Given the description of an element on the screen output the (x, y) to click on. 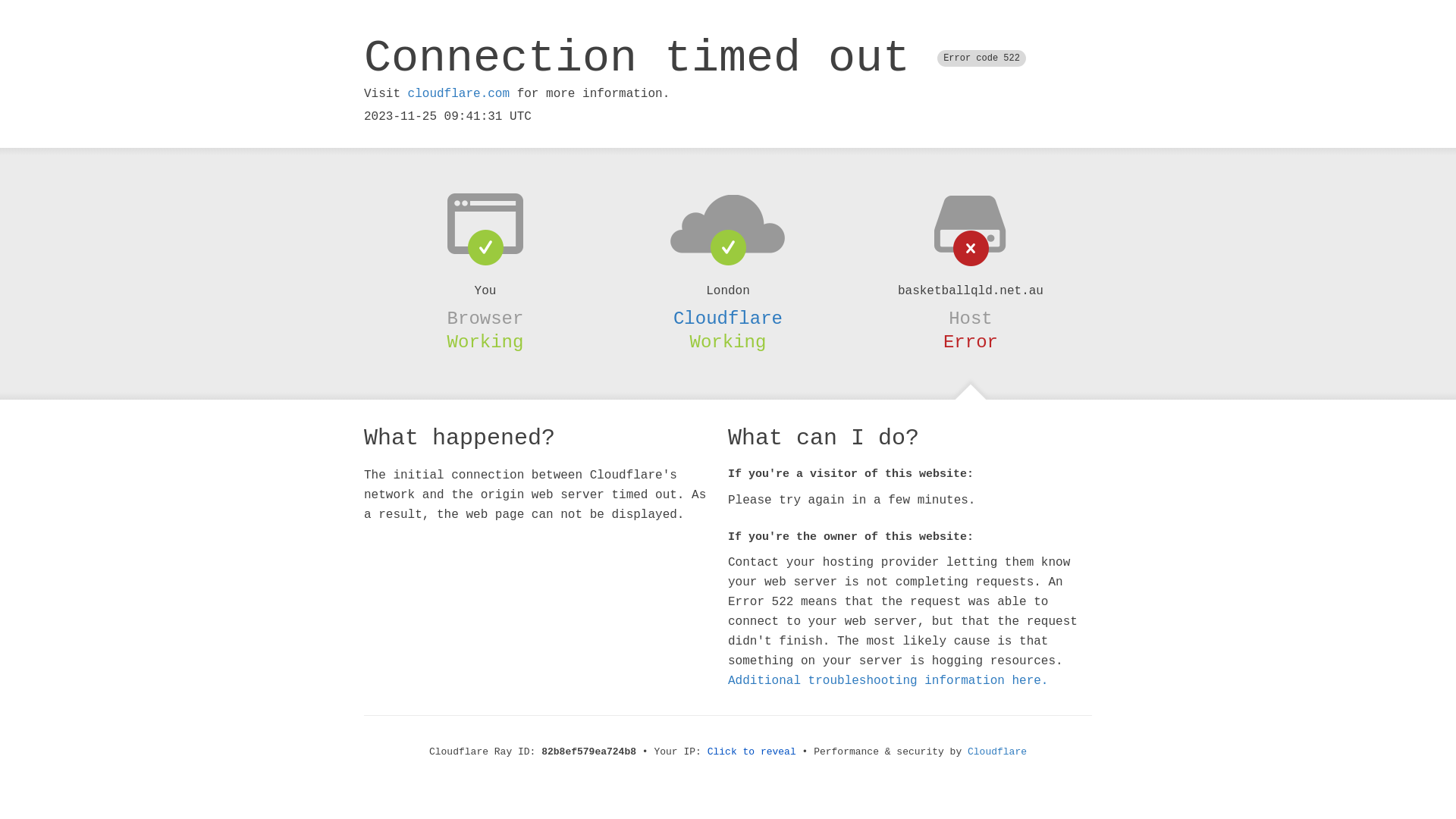
Click to reveal Element type: text (751, 751)
Additional troubleshooting information here. Element type: text (888, 680)
Cloudflare Element type: text (727, 318)
cloudflare.com Element type: text (458, 93)
Cloudflare Element type: text (996, 751)
